Given the description of an element on the screen output the (x, y) to click on. 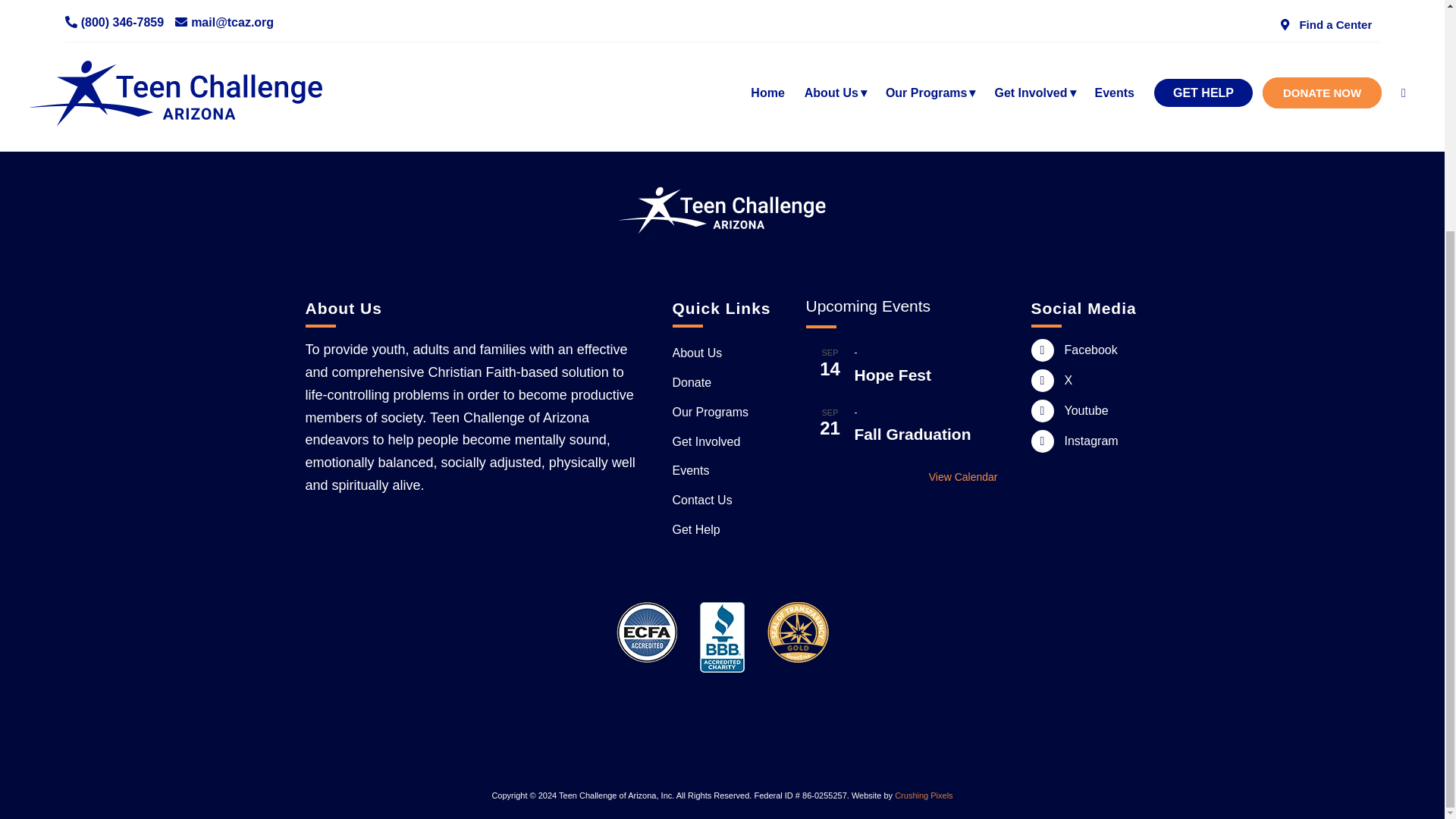
View more events. (901, 477)
Hope Fest (892, 375)
Facebook (1042, 350)
Instagram (1042, 440)
Fall Graduation (912, 434)
Youtube (1042, 410)
X (1042, 380)
